Given the description of an element on the screen output the (x, y) to click on. 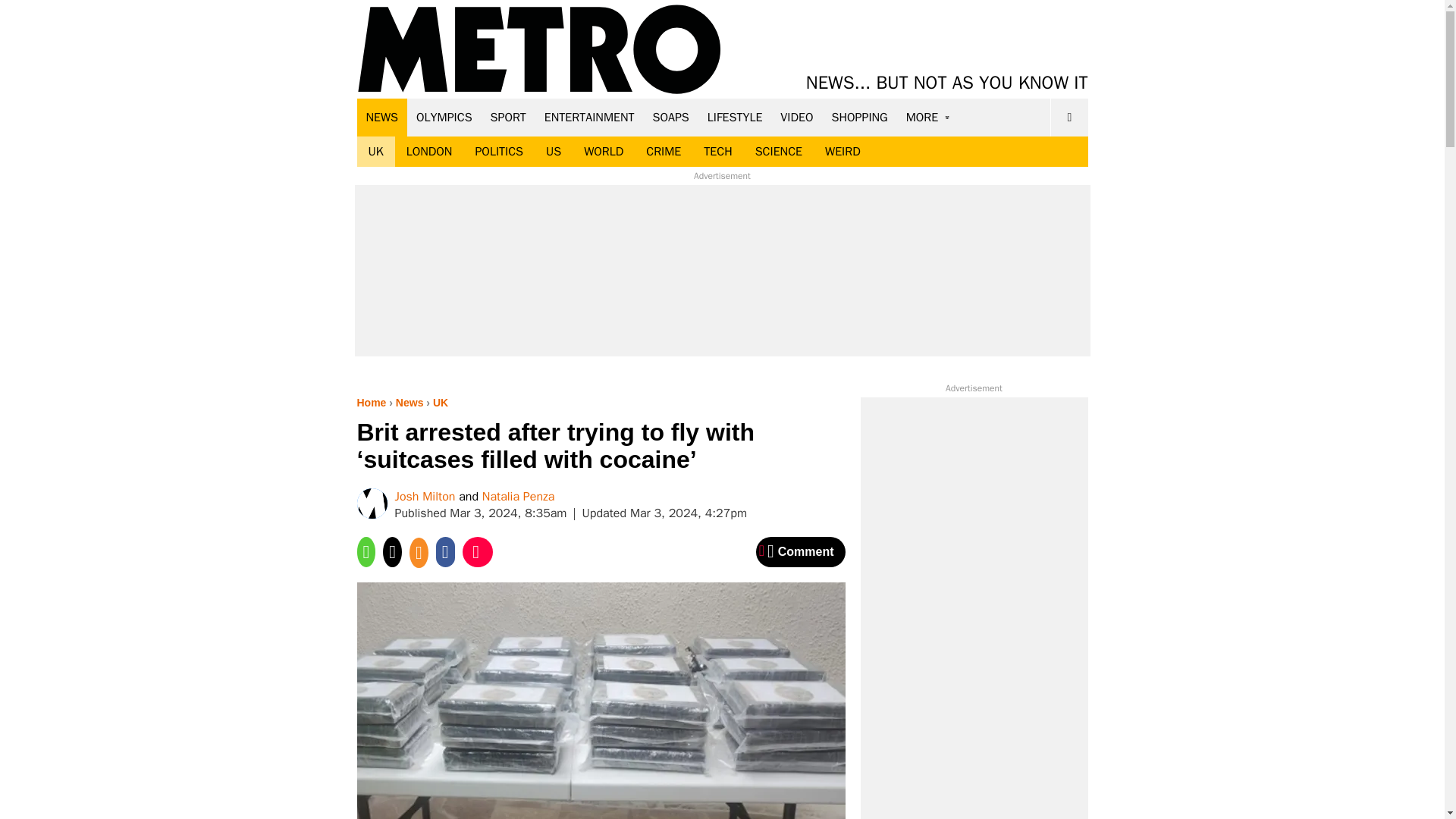
ENTERTAINMENT (589, 117)
UK (375, 151)
LONDON (429, 151)
WEIRD (842, 151)
SOAPS (670, 117)
SPORT (508, 117)
TECH (717, 151)
NEWS (381, 117)
SCIENCE (778, 151)
CRIME (663, 151)
